Given the description of an element on the screen output the (x, y) to click on. 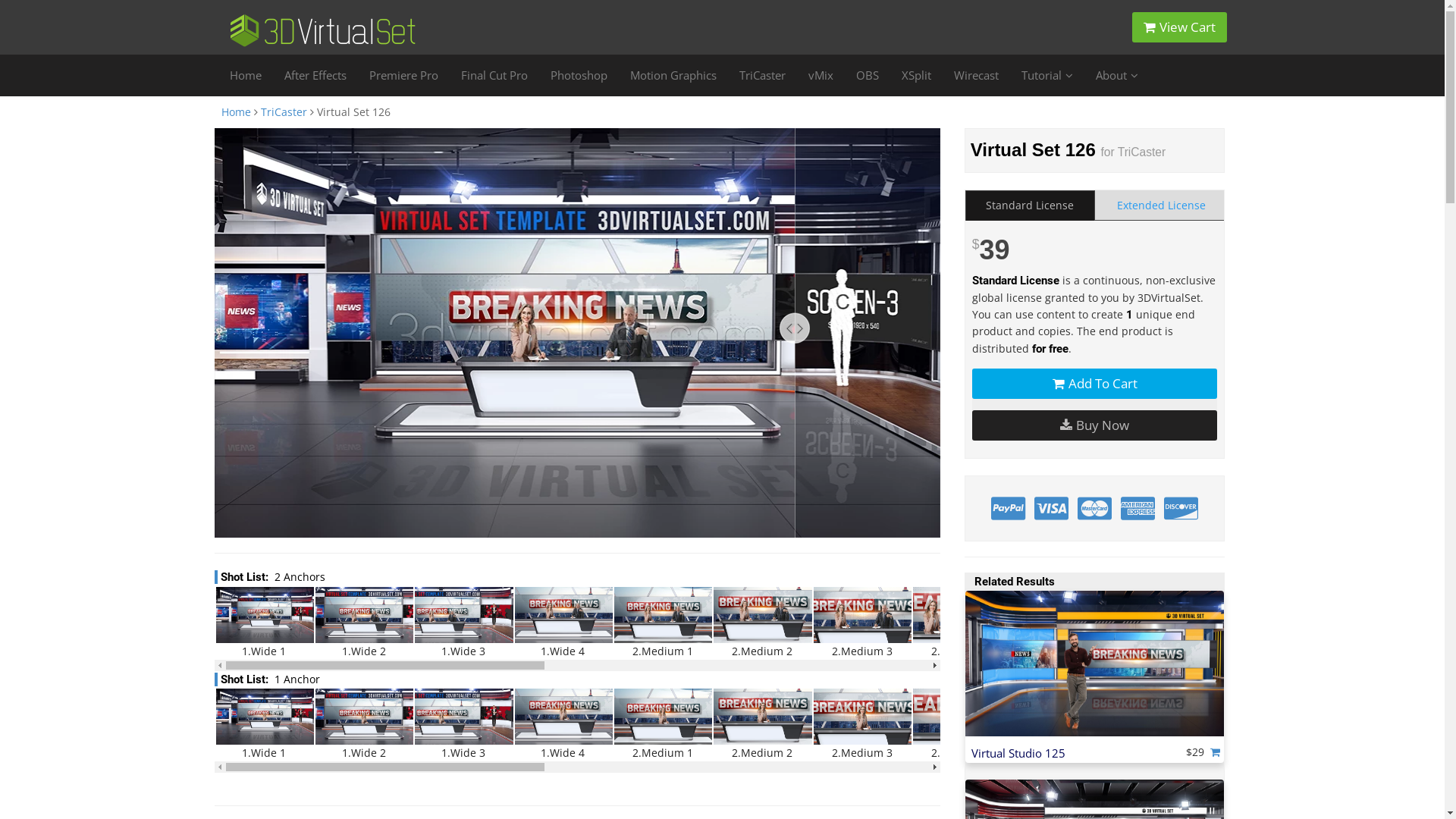
2.Medium 3 Element type: text (861, 622)
Photoshop Element type: text (578, 75)
2.Medium 1 Element type: text (662, 622)
Virtual Studio 125 Element type: text (1018, 753)
XSplit Element type: text (916, 75)
OBS Element type: text (867, 75)
Buy Now Element type: text (1094, 425)
Add To Cart Element type: hover (1216, 751)
Motion Graphics Element type: text (673, 75)
2.Medium 4 Element type: text (961, 622)
After Effects Element type: text (315, 75)
Add To Cart Element type: text (1094, 383)
3.Close-up 1 Element type: text (1061, 622)
vMix Element type: text (820, 75)
3.Close-up 3 Element type: text (1259, 723)
3.Close-up 4 Element type: text (1359, 723)
2.Medium 1 Element type: text (662, 723)
Standard License Element type: text (1015, 280)
3.Close-up 2 Element type: text (1160, 622)
TriCaster Element type: text (283, 111)
3.Close-up 1 Element type: text (1061, 723)
3.Close-up 4 Element type: text (1359, 622)
3.Close-up 3 Element type: text (1259, 622)
Wirecast Element type: text (975, 75)
1.Wide 4 Element type: text (562, 622)
View Cart Element type: text (1178, 27)
2.Medium 4 Element type: text (961, 723)
TriCaster Element type: text (762, 75)
Extended License Element type: text (1160, 204)
Standard License Element type: text (1029, 204)
Home Element type: text (245, 75)
1.Wide 2 Element type: text (363, 622)
Premiere Pro Element type: text (403, 75)
About Element type: text (1116, 75)
2.Medium 2 Element type: text (761, 622)
Final Cut Pro Element type: text (493, 75)
1.Wide 1 Element type: text (264, 723)
1.Wide 4 Element type: text (562, 723)
1.Wide 2 Element type: text (363, 723)
2.Medium 3 Element type: text (861, 723)
1.Wide 1 Element type: text (264, 622)
1.Wide 3 Element type: text (462, 723)
2.Medium 2 Element type: text (761, 723)
Home Element type: text (234, 111)
3.Close-up 2 Element type: text (1160, 723)
Tutorial Element type: text (1047, 75)
1.Wide 3 Element type: text (462, 622)
